Given the description of an element on the screen output the (x, y) to click on. 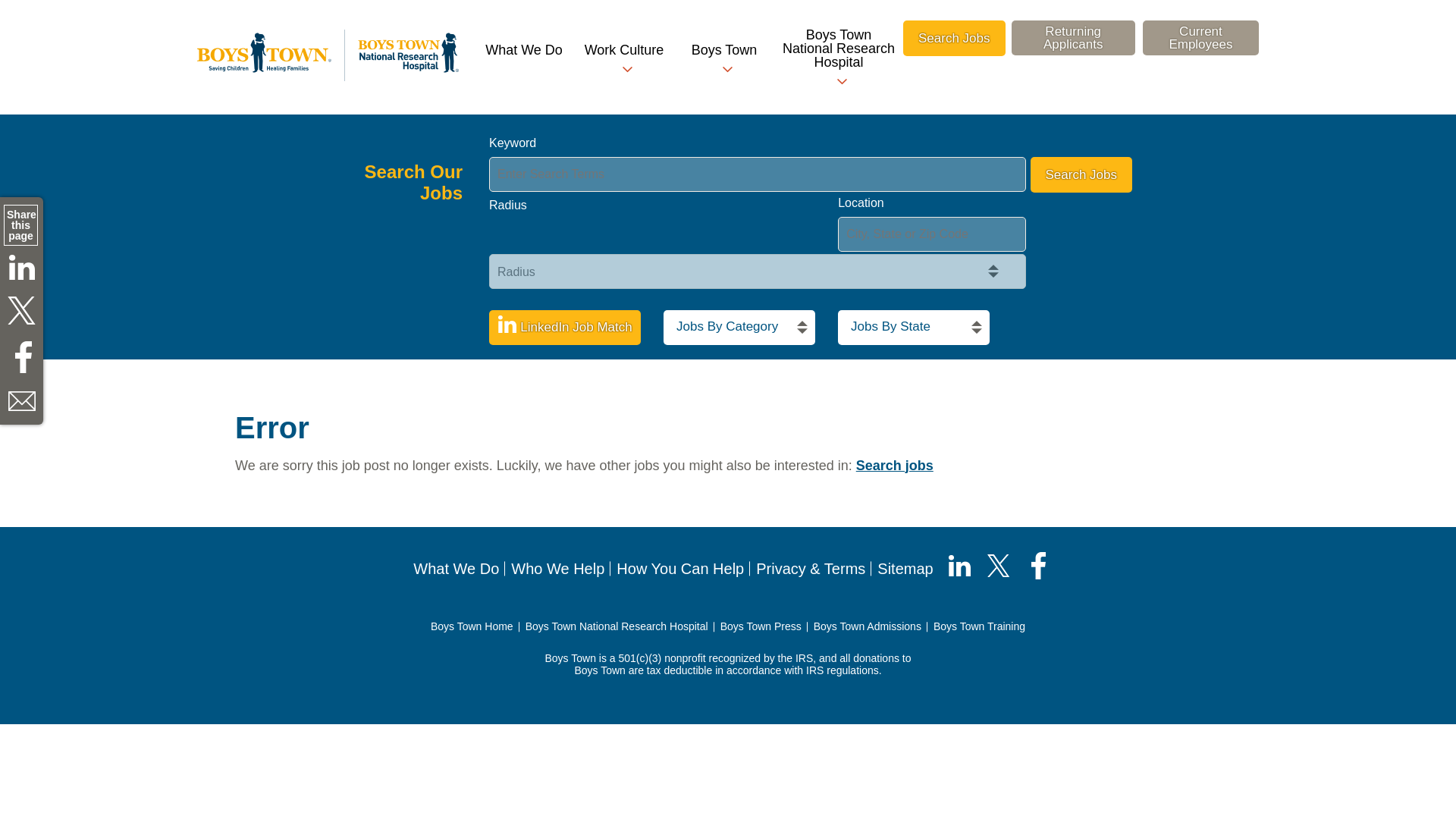
Jobs By Category (739, 327)
LinkedIn Job Match (564, 327)
Work Culture (623, 58)
Search Jobs (1080, 174)
What We Do (523, 50)
Boys Town National Research Hospital (838, 57)
Search Jobs (954, 38)
Boys Town (724, 58)
Current Employees (1200, 37)
Returning Applicants (1073, 37)
